Given the description of an element on the screen output the (x, y) to click on. 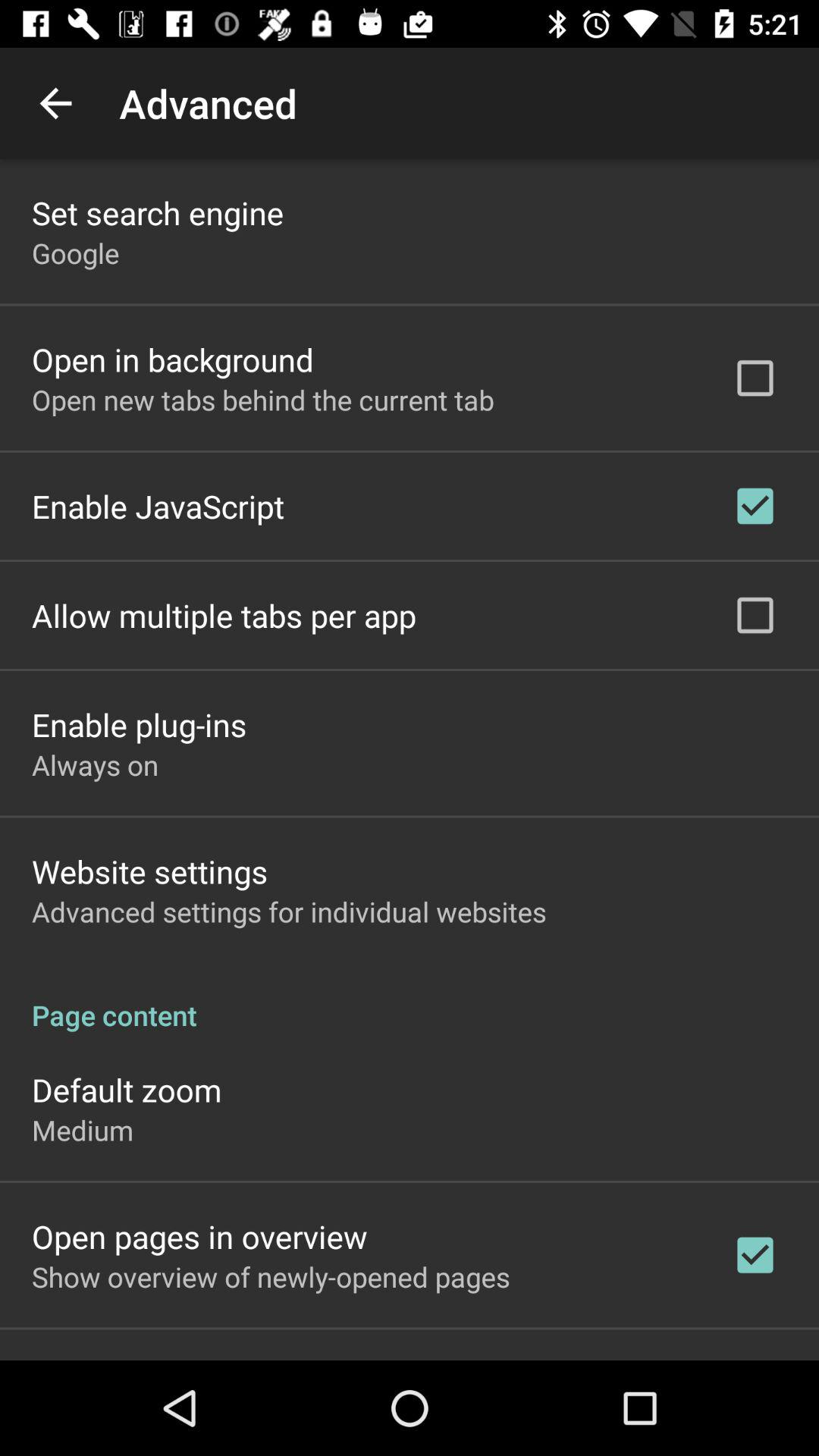
turn off app above google (157, 212)
